Given the description of an element on the screen output the (x, y) to click on. 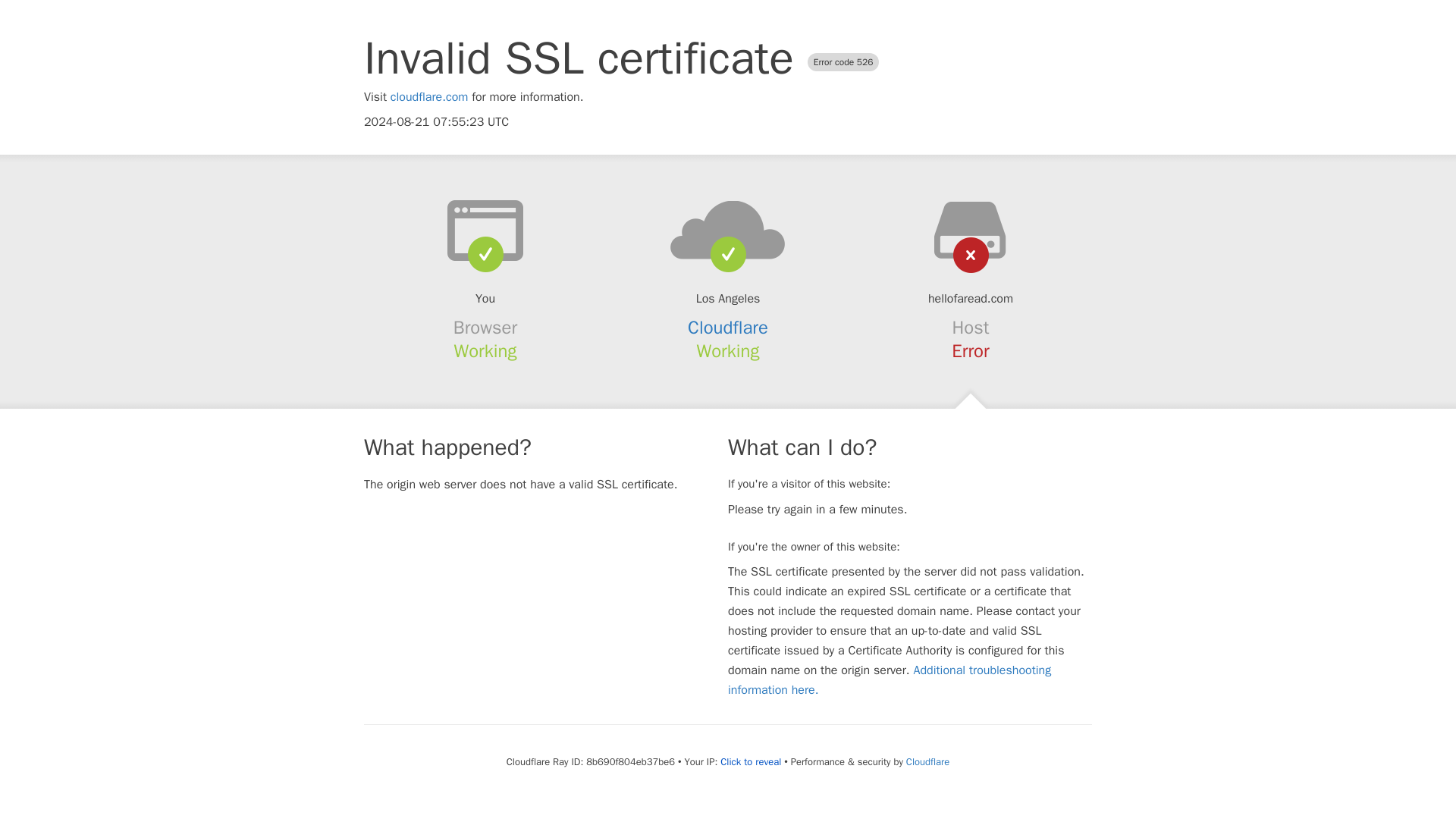
cloudflare.com (429, 96)
Click to reveal (750, 762)
Cloudflare (927, 761)
Additional troubleshooting information here. (889, 679)
Cloudflare (727, 327)
